Given the description of an element on the screen output the (x, y) to click on. 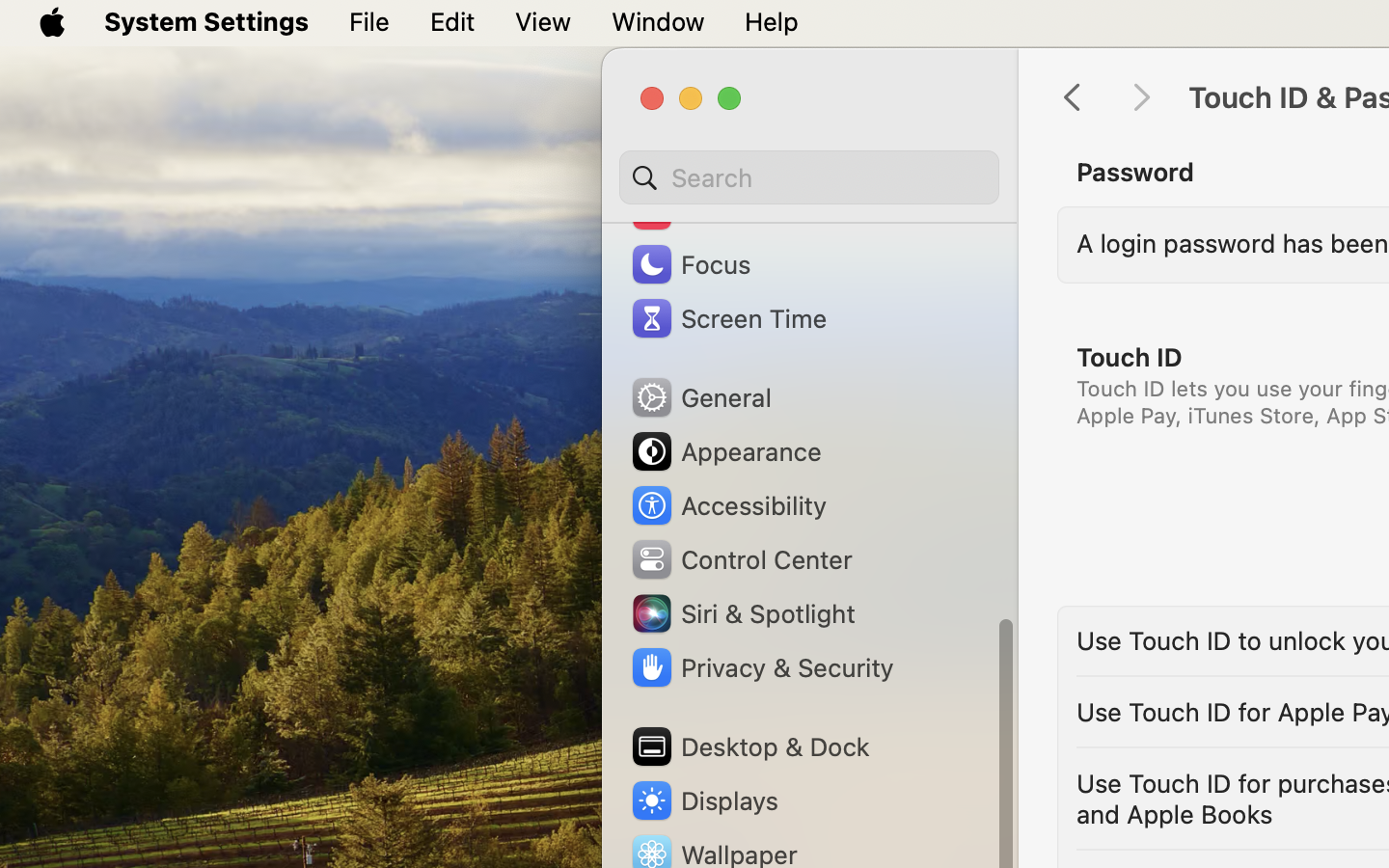
Accessibility Element type: AXStaticText (727, 505)
Control Center Element type: AXStaticText (740, 559)
Siri & Spotlight Element type: AXStaticText (741, 613)
Sound Element type: AXStaticText (692, 210)
Privacy & Security Element type: AXStaticText (760, 667)
